Given the description of an element on the screen output the (x, y) to click on. 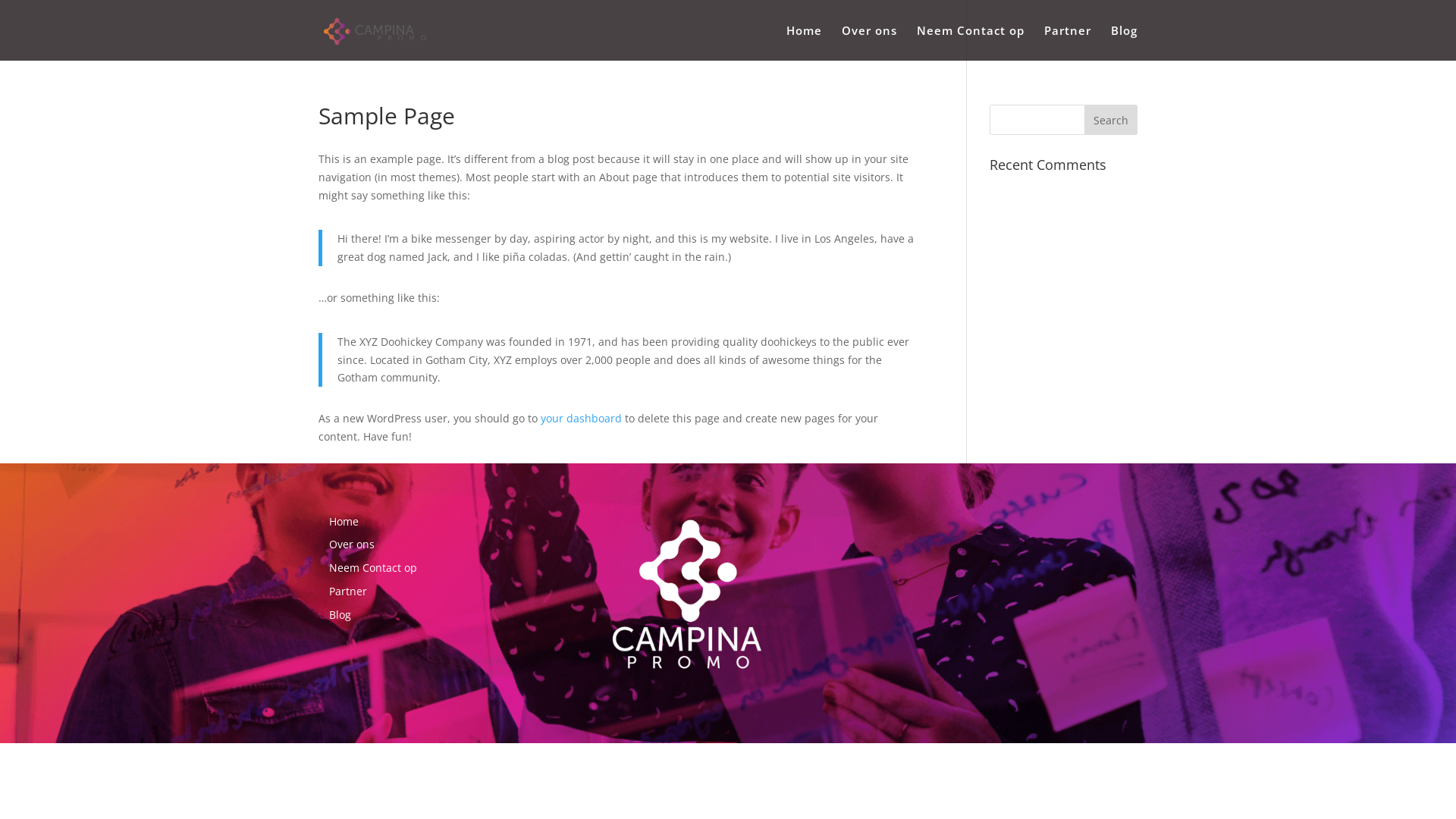
Partner Element type: text (1067, 42)
Blog Element type: text (340, 614)
Home Element type: text (804, 42)
Over ons Element type: text (869, 42)
Home Element type: text (343, 521)
Partner Element type: text (348, 590)
Over ons Element type: text (351, 543)
Search Element type: text (1110, 119)
Neem Contact op Element type: text (373, 567)
Neem Contact op Element type: text (970, 42)
your dashboard Element type: text (580, 418)
Blog Element type: text (1123, 42)
